Given the description of an element on the screen output the (x, y) to click on. 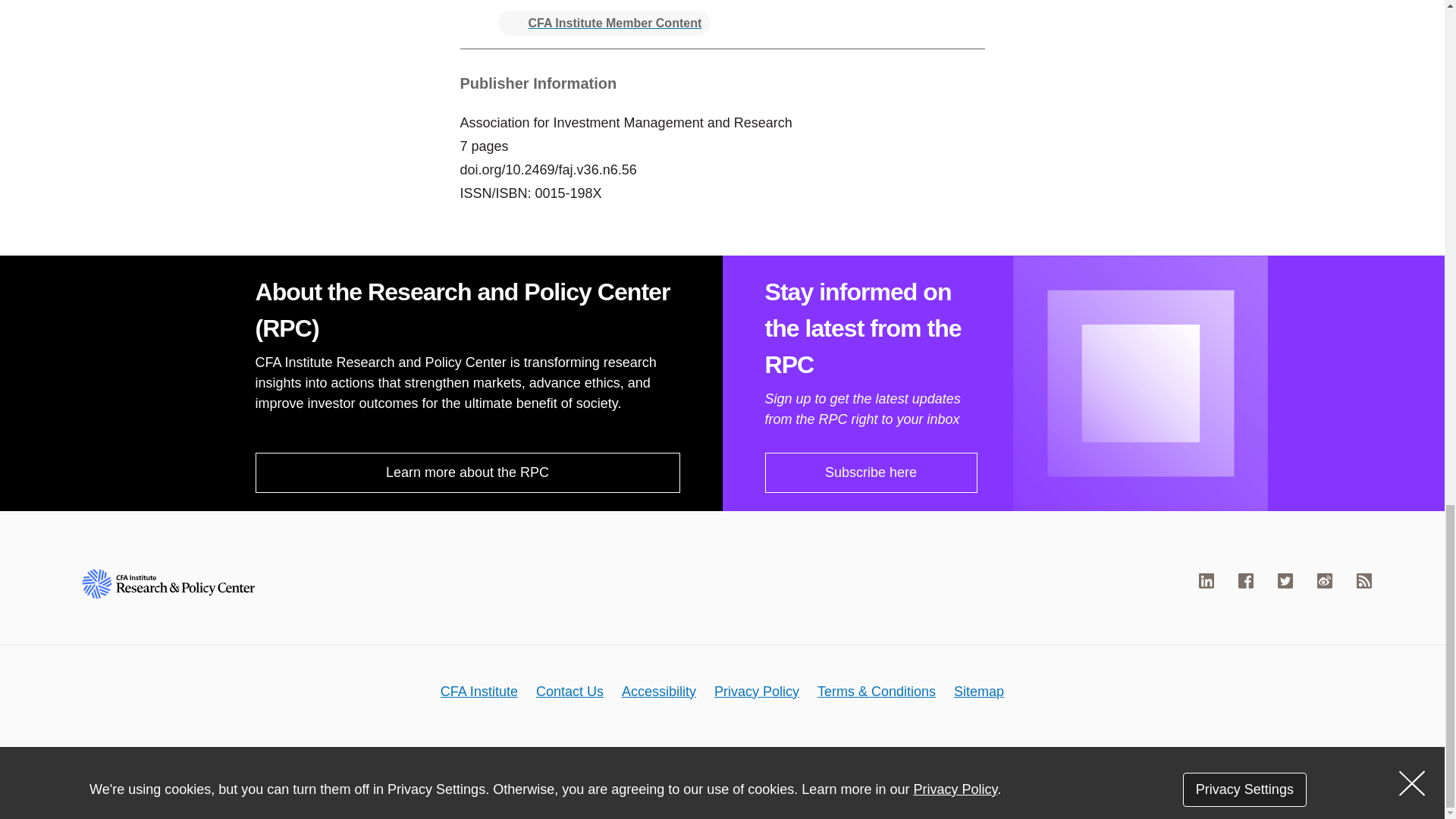
Terms and Conditions (876, 690)
Facebook Page (1246, 580)
Twitter Page (1285, 580)
Sitemap (978, 690)
Linkedin Page (1206, 580)
Privacy Policy (756, 690)
Weibo Page (1324, 580)
CFA Institute Research and Policy Center RSS (1363, 580)
